Given the description of an element on the screen output the (x, y) to click on. 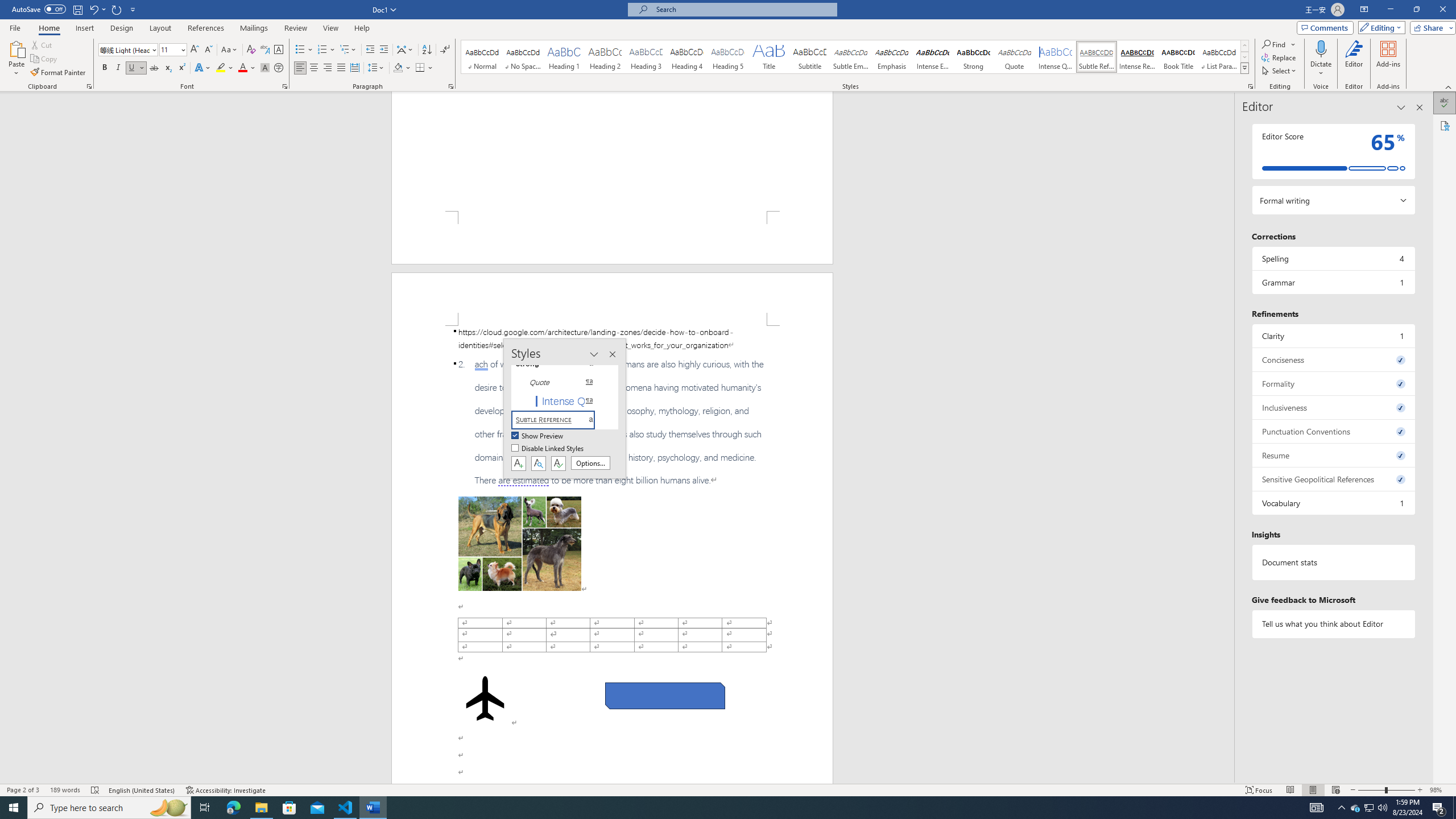
Font Color Automatic (241, 67)
